Given the description of an element on the screen output the (x, y) to click on. 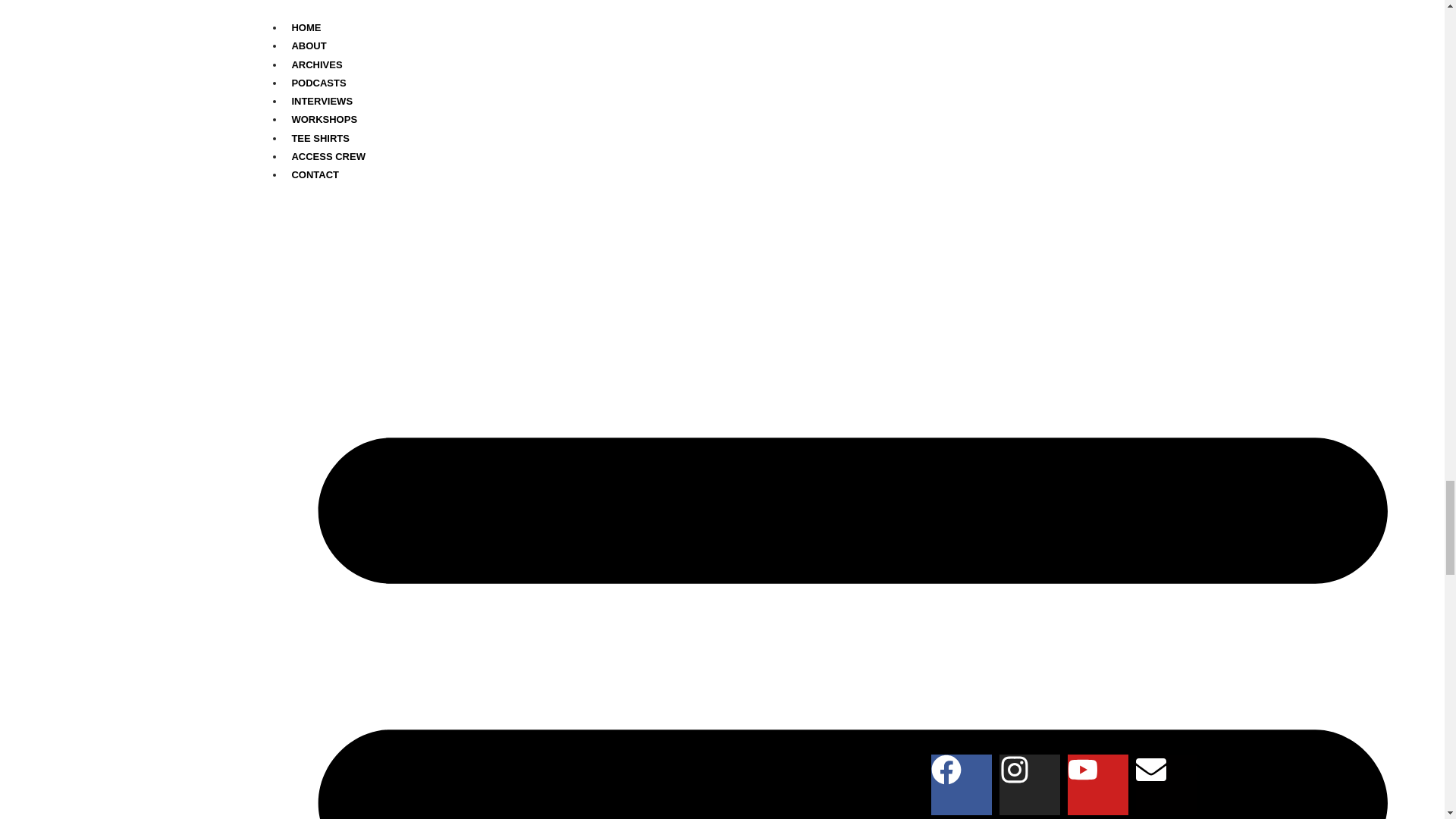
Mute (752, 531)
Subscribe on Blubrry (554, 586)
Play in new window (345, 560)
Play (235, 531)
How to Subscribe (481, 599)
Download (457, 560)
Subscribe by Email (609, 586)
Subscribe on Apple Podcasts (342, 586)
Subscribe on Android (491, 586)
Subscribe on TuneIn (665, 586)
Subscribe on Spotify (431, 586)
